Given the description of an element on the screen output the (x, y) to click on. 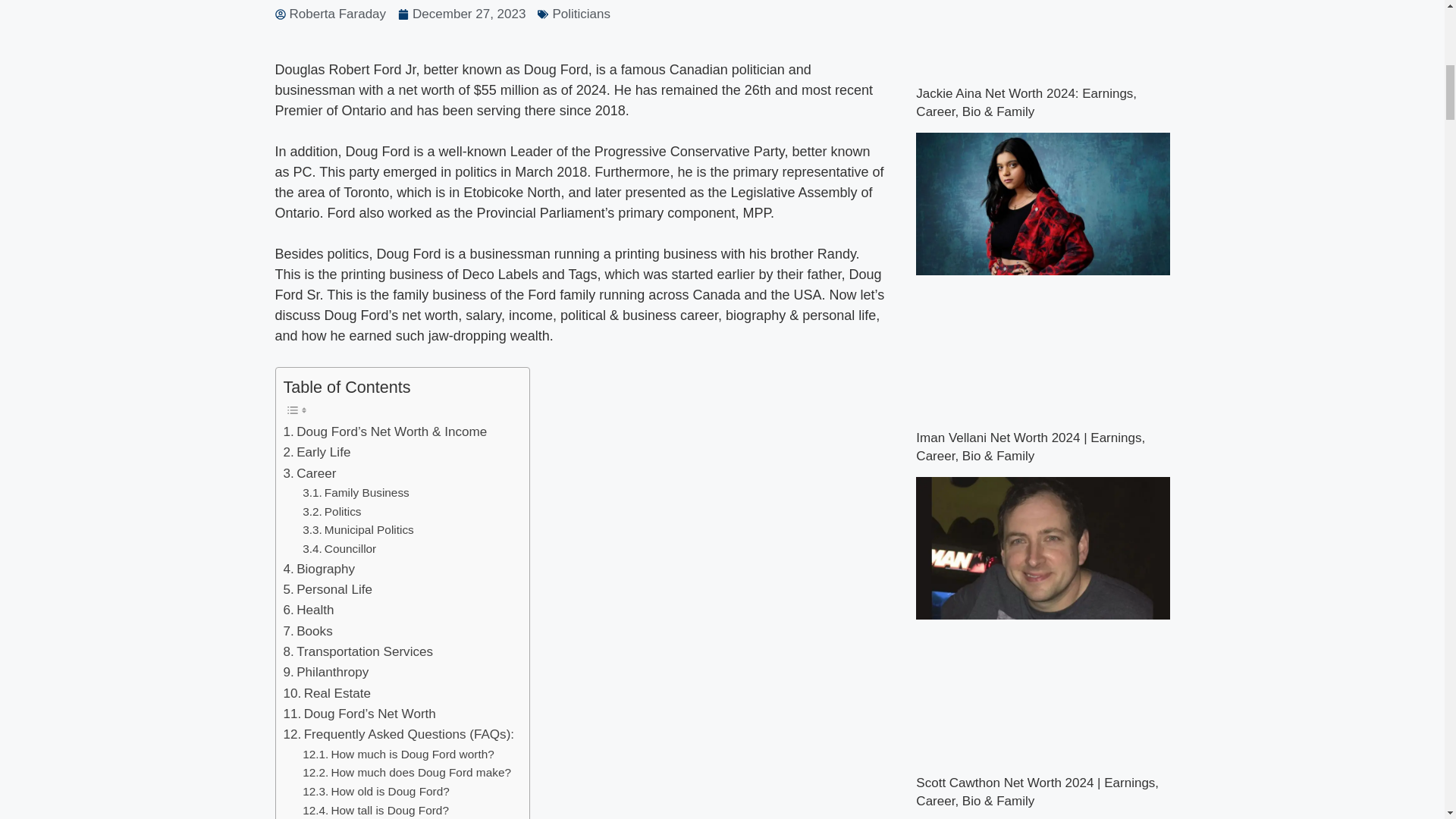
Councillor (338, 548)
Real Estate (327, 693)
December 27, 2023 (461, 14)
Family Business (355, 493)
Politics (331, 511)
Books (308, 630)
Personal Life (327, 589)
Health (308, 609)
How much does Doug Ford make? (406, 772)
Biography (319, 568)
